Given the description of an element on the screen output the (x, y) to click on. 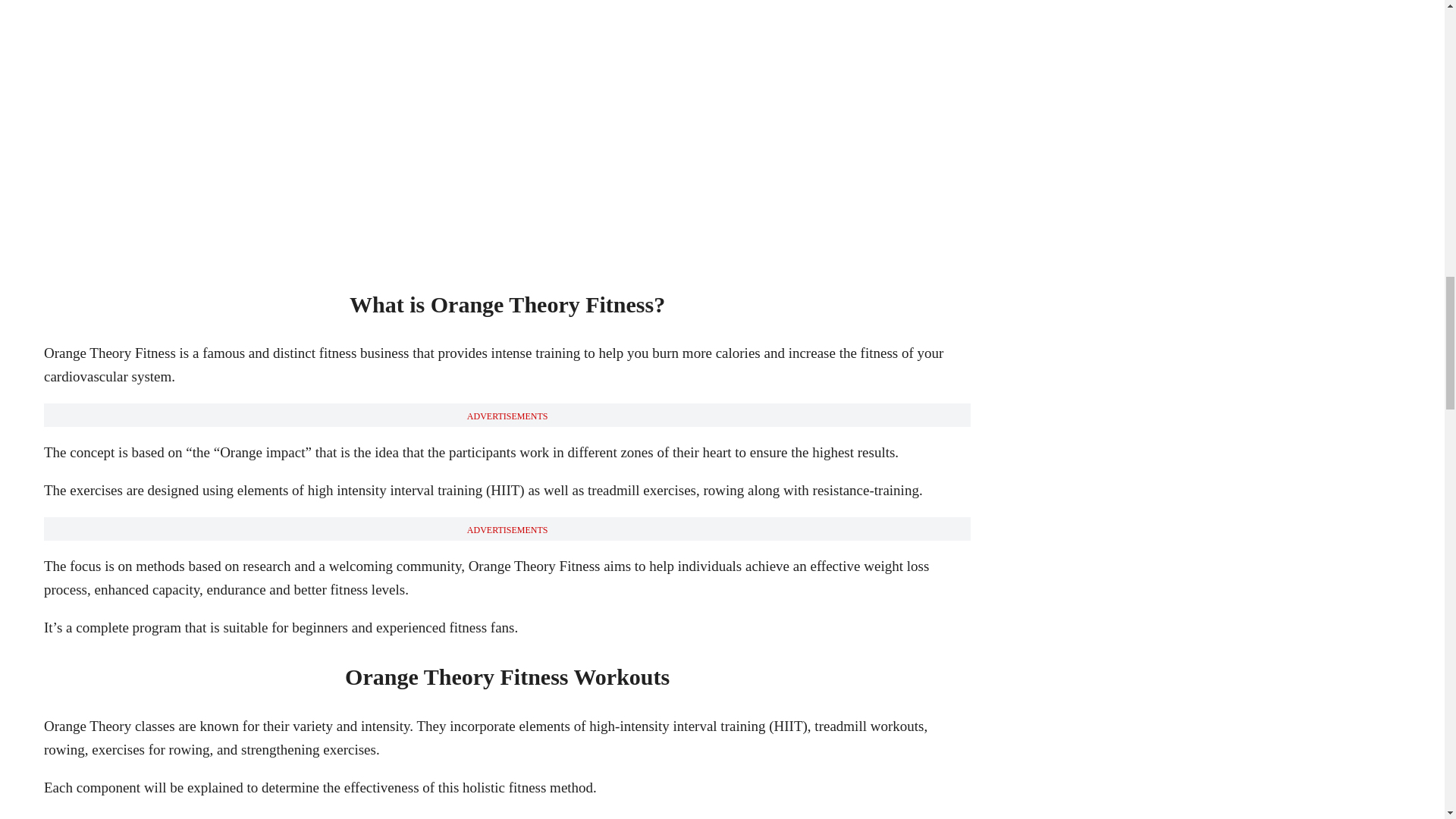
ADVERTISEMENTS (507, 529)
ADVERTISEMENTS (507, 416)
